Given the description of an element on the screen output the (x, y) to click on. 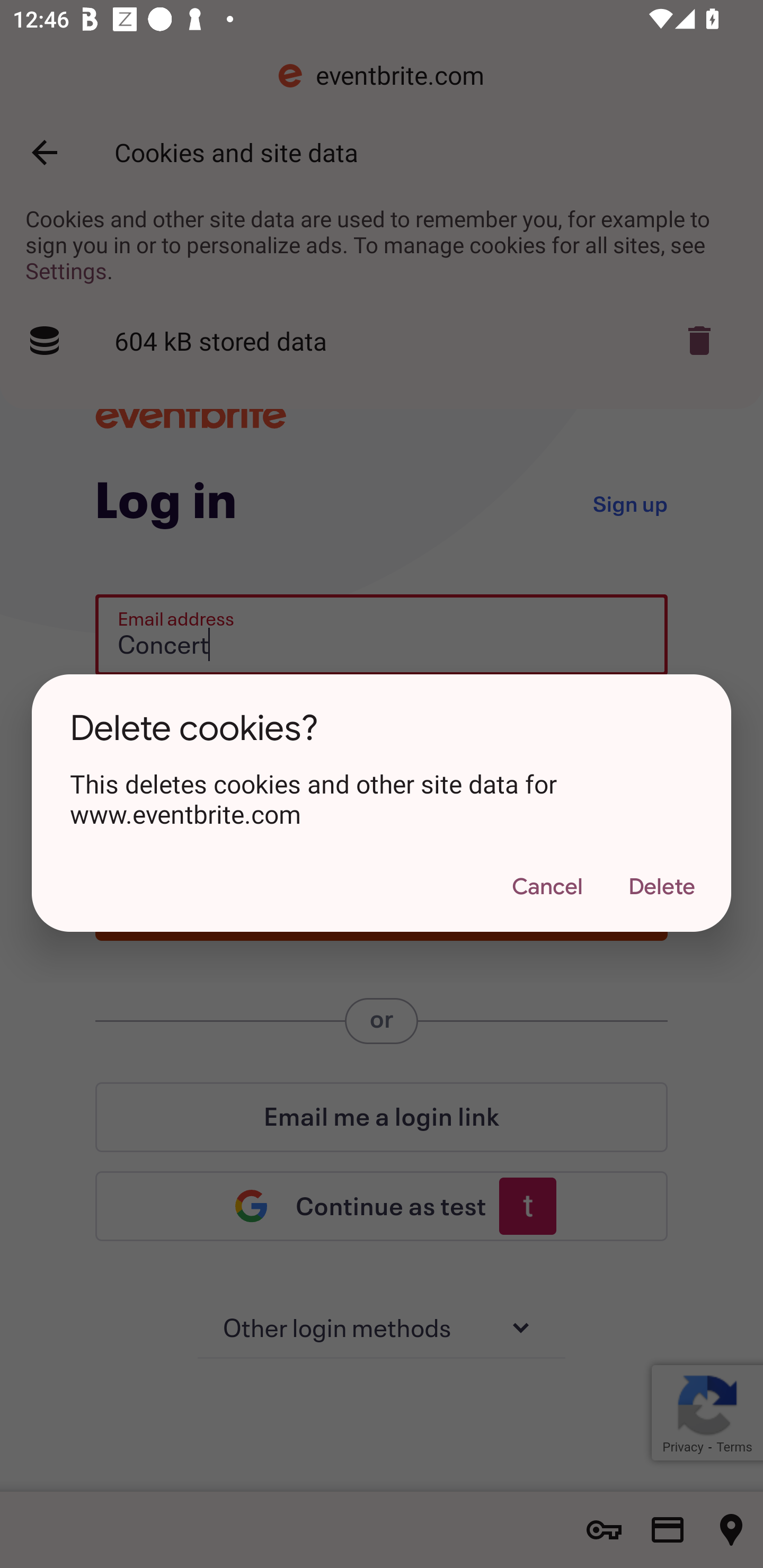
Cancel (546, 887)
Delete (660, 887)
